Given the description of an element on the screen output the (x, y) to click on. 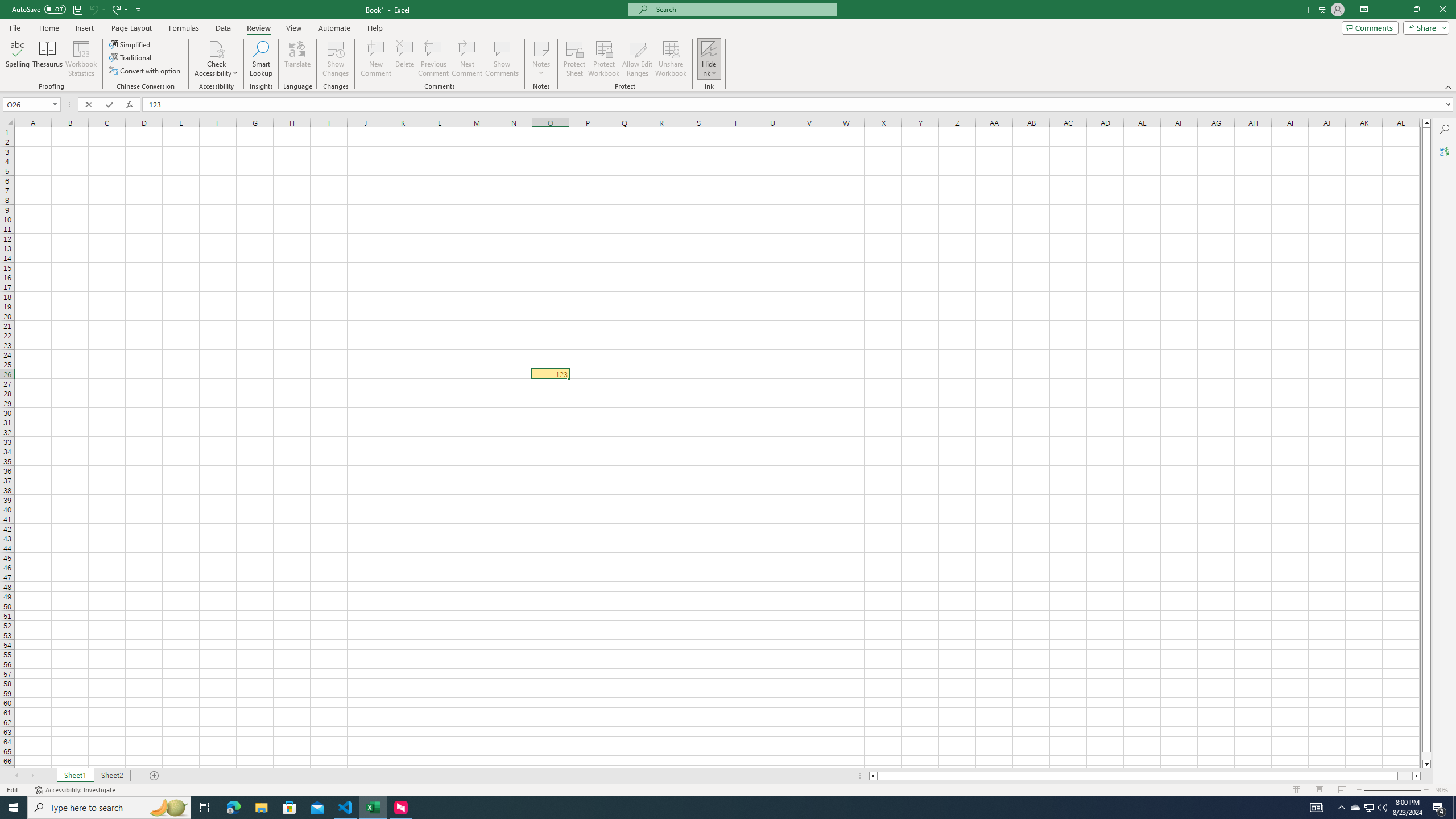
Automate (334, 28)
Hide Ink (708, 48)
Page down (1426, 756)
Add Sheet (155, 775)
File Tab (15, 27)
Protect Sheet... (574, 58)
Show Changes (335, 58)
Protect Workbook... (603, 58)
Thesaurus... (47, 58)
AutoSave (38, 9)
Insert (83, 28)
Delete (404, 58)
System (6, 6)
Zoom Out (1376, 790)
Traditional (131, 56)
